Given the description of an element on the screen output the (x, y) to click on. 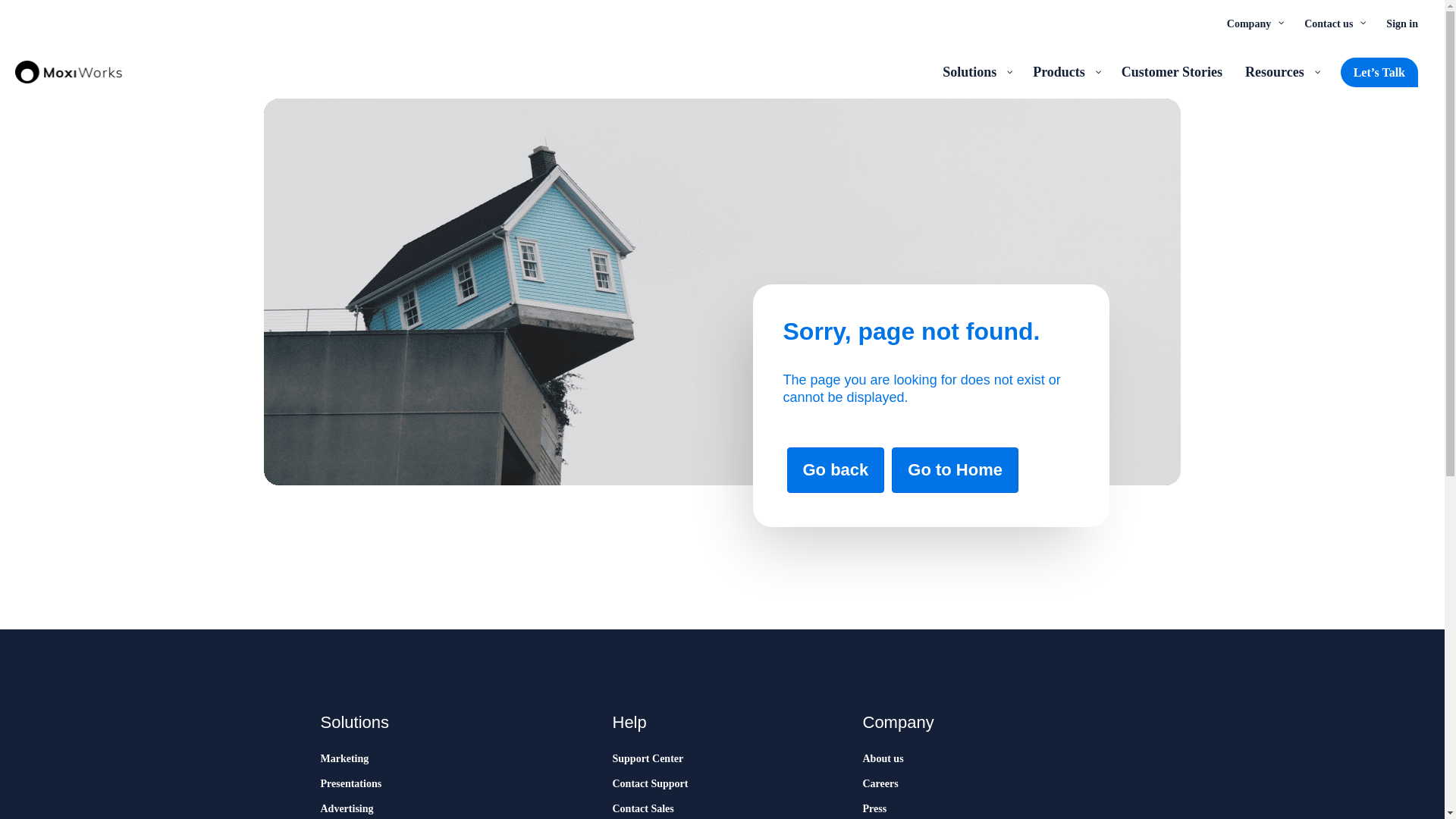
Solutions (976, 72)
Contact us (1333, 22)
Products (1065, 72)
Sign in (1401, 22)
Company (1253, 22)
